Given the description of an element on the screen output the (x, y) to click on. 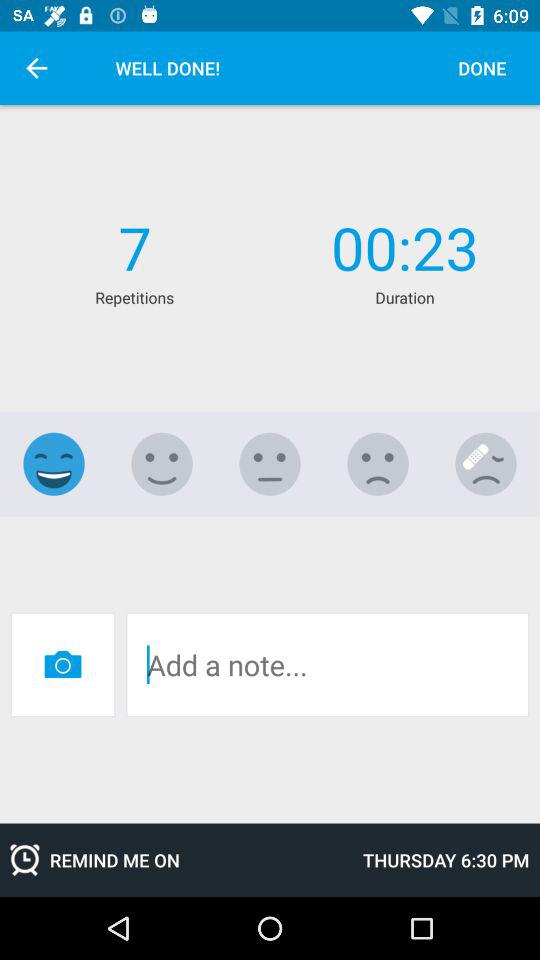
turn on the icon above the 7 icon (36, 68)
